Given the description of an element on the screen output the (x, y) to click on. 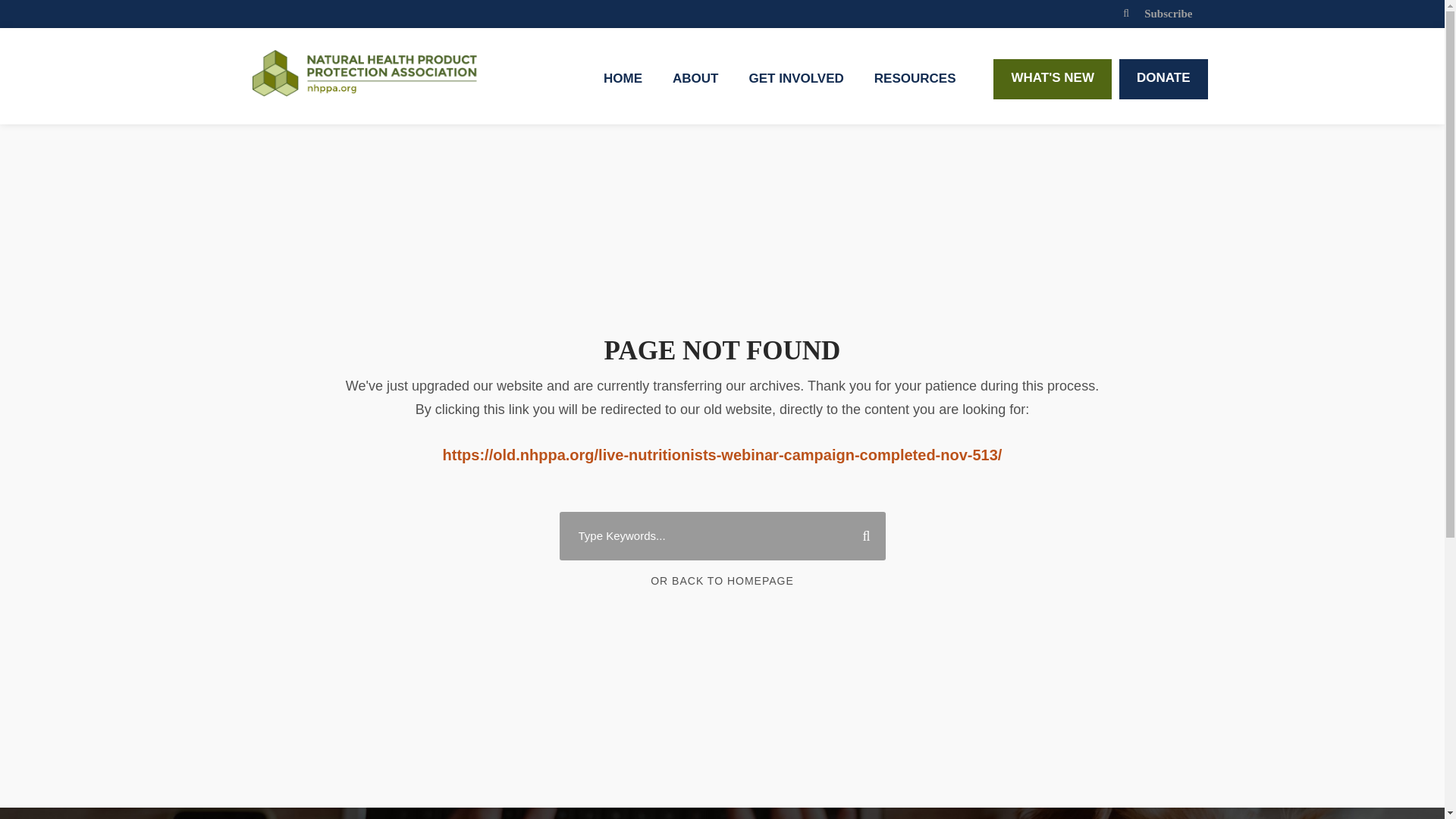
Search (860, 535)
WHAT'S NEW (1052, 78)
GET INVOLVED (795, 85)
HOME (623, 85)
RESOURCES (915, 85)
Subscribe (1168, 13)
ABOUT (694, 85)
OR BACK TO HOMEPAGE (721, 580)
DONATE (1163, 78)
